Given the description of an element on the screen output the (x, y) to click on. 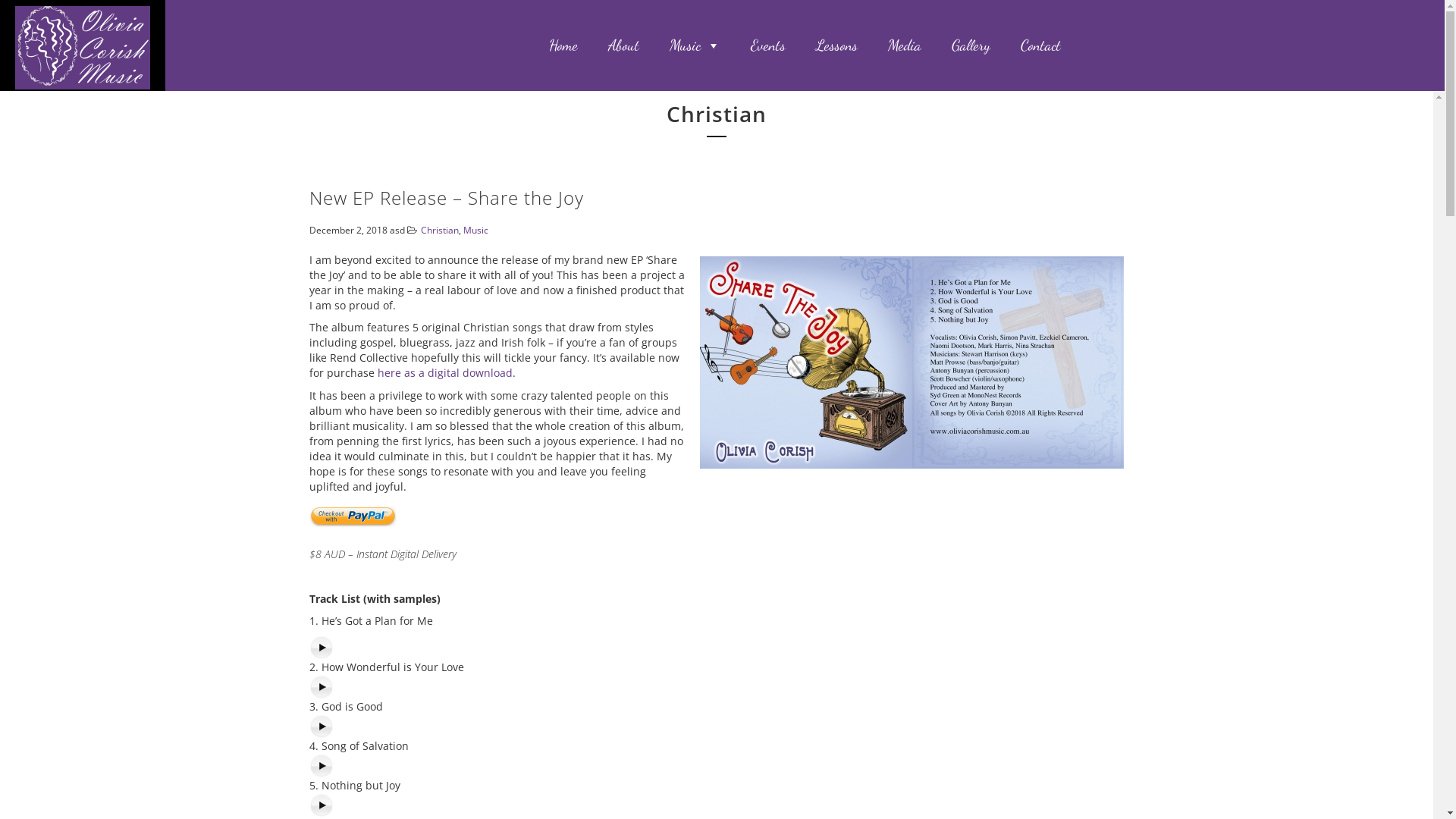
Gallery Element type: text (970, 45)
December 2, 2018 Element type: text (349, 229)
here as a digital download Element type: text (444, 372)
Lessons Element type: text (836, 45)
Media Element type: text (904, 45)
Home Element type: text (563, 45)
Events Element type: text (767, 45)
Music Element type: text (475, 230)
About Element type: text (623, 45)
Music Element type: text (694, 45)
Christian Element type: text (439, 230)
Contact Element type: text (1040, 45)
